Given the description of an element on the screen output the (x, y) to click on. 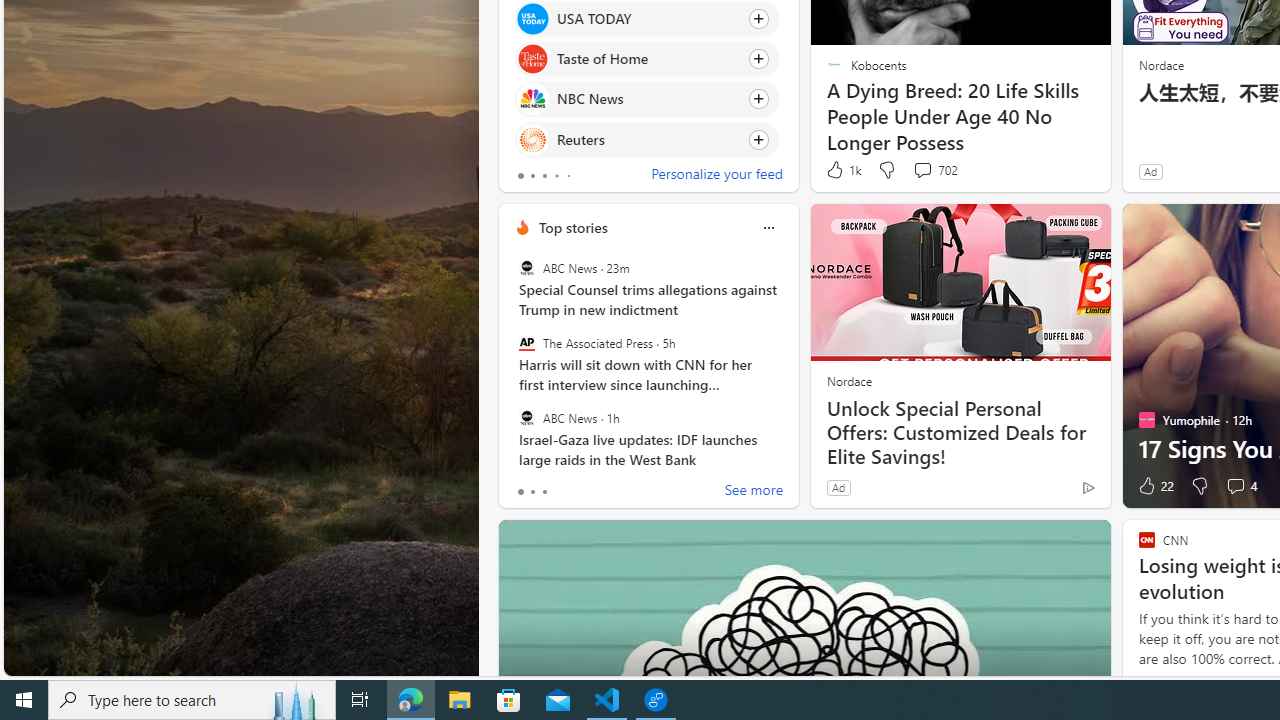
Top stories (572, 227)
View comments 4 Comment (1234, 485)
tab-2 (543, 491)
View comments 702 Comment (934, 170)
